Given the description of an element on the screen output the (x, y) to click on. 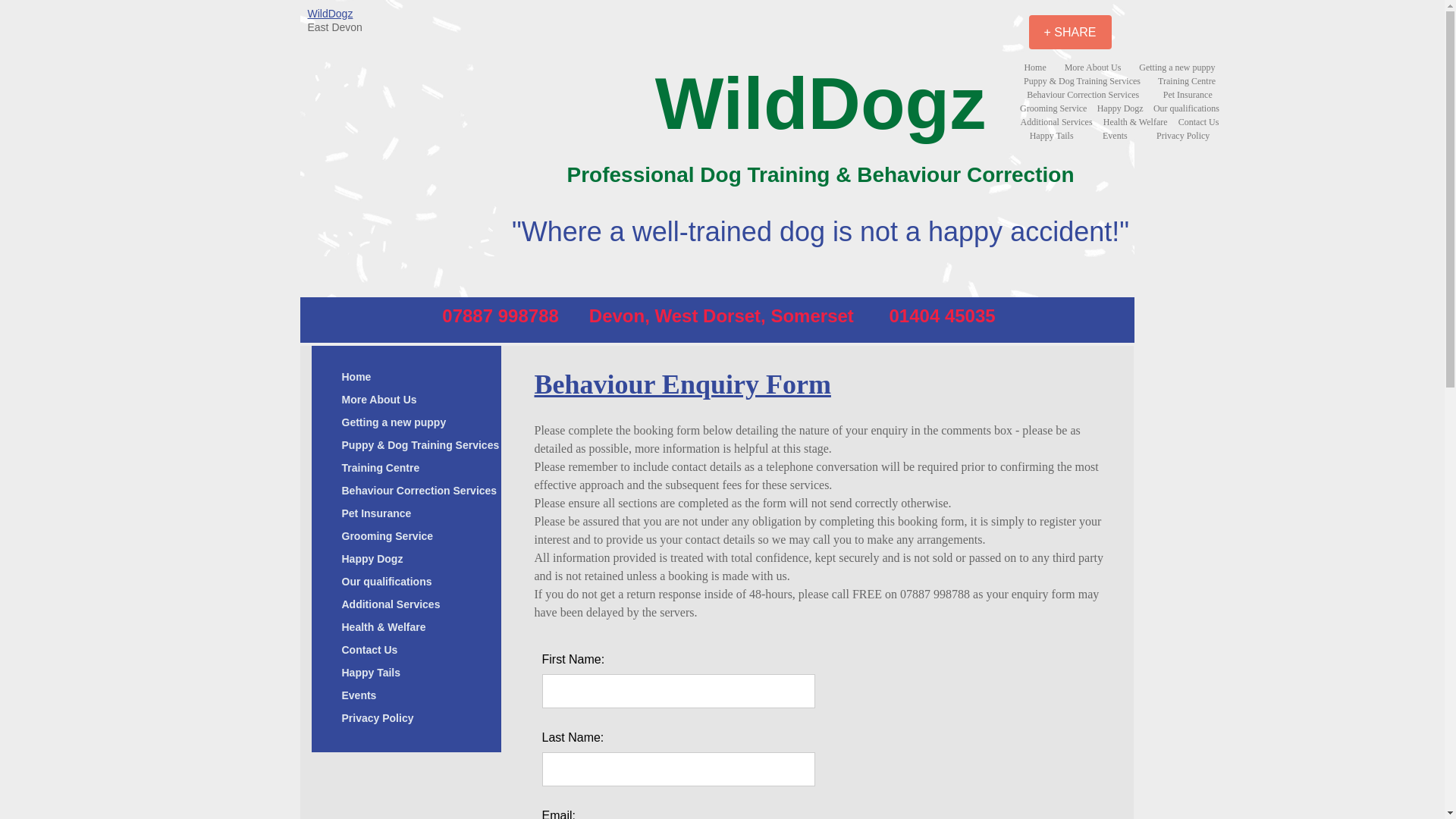
Happy Dogz (1120, 108)
Events (1114, 135)
Privacy Policy (376, 718)
Events (358, 695)
More About Us (1093, 67)
Getting a new puppy (392, 422)
Getting a new puppy (1176, 67)
Happy Tails (1050, 135)
Our qualifications (386, 581)
More About Us (378, 399)
